Given the description of an element on the screen output the (x, y) to click on. 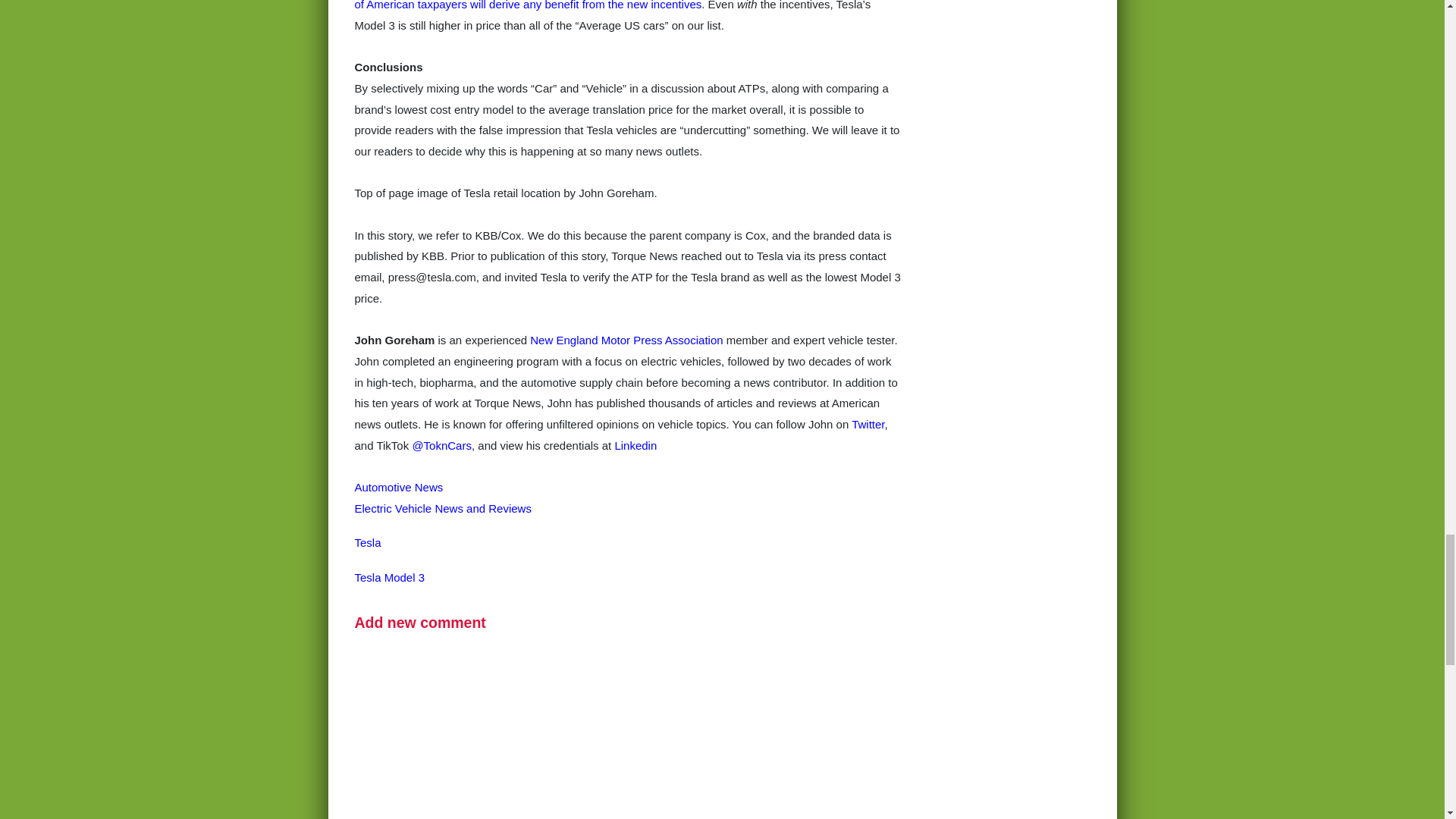
Automotive News (399, 486)
Tesla Model 3 (390, 576)
Share your thoughts and opinions. (420, 622)
Linkedin (635, 445)
Electric Vehicle News and Reviews (443, 508)
Tesla (368, 542)
John Goreham (395, 339)
New England Motor Press Association (627, 339)
Add new comment (420, 622)
